Given the description of an element on the screen output the (x, y) to click on. 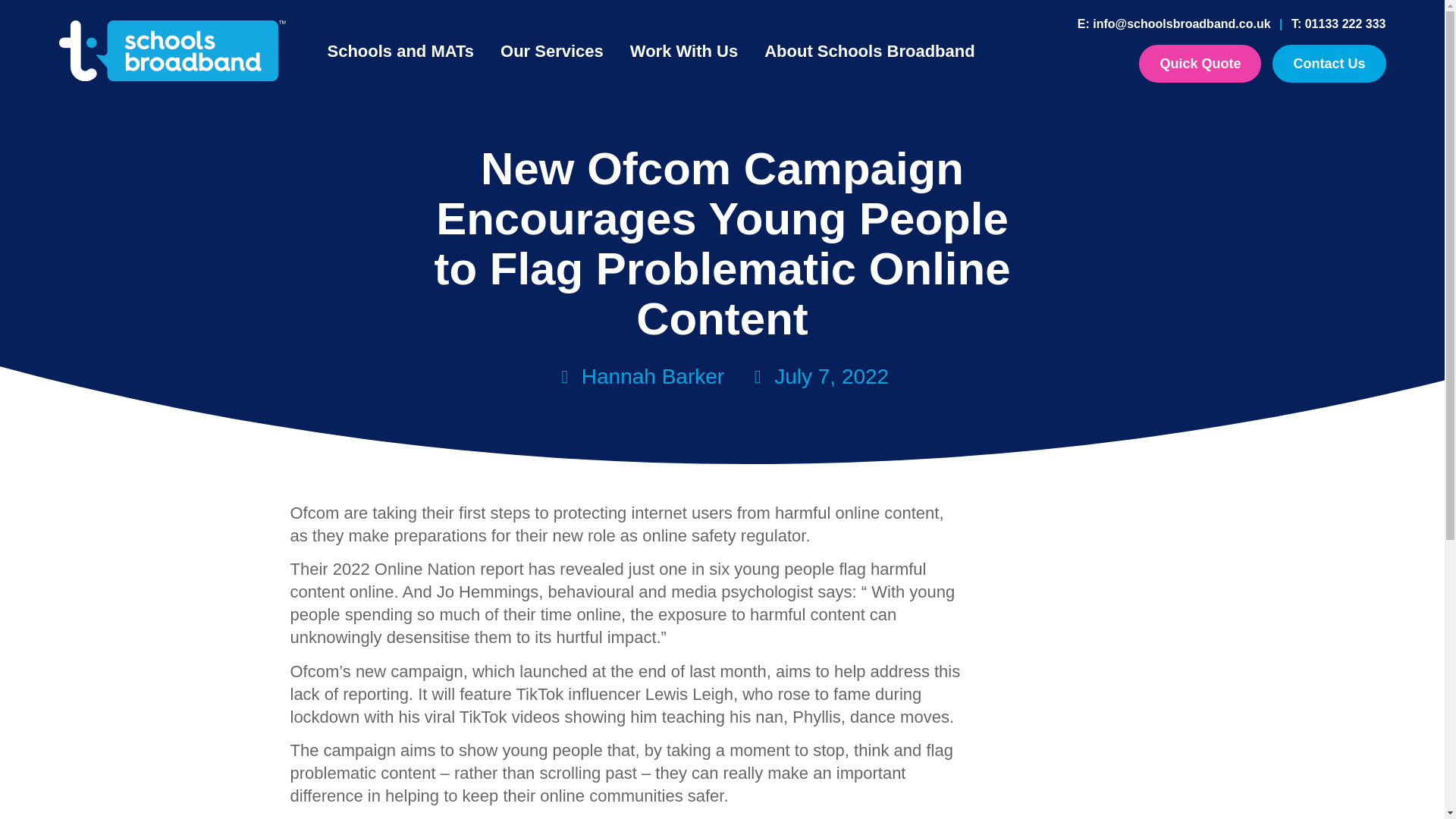
Work With Us (683, 51)
Our Services (551, 51)
About Schools Broadband (868, 51)
Schools and MATs (399, 51)
